Given the description of an element on the screen output the (x, y) to click on. 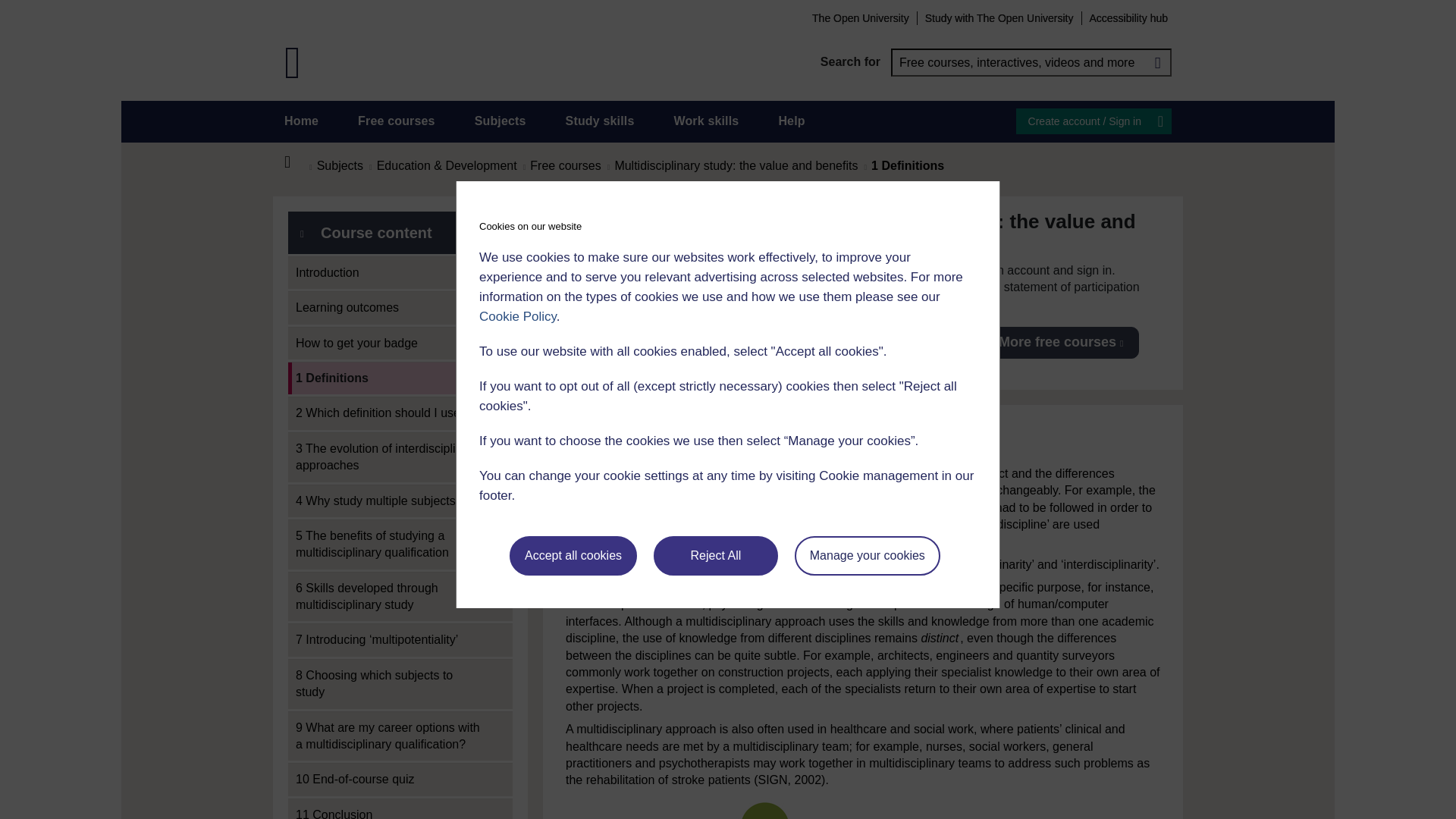
Subjects (499, 120)
Work skills (705, 120)
Home (295, 162)
Study skills (600, 120)
Free courses (396, 120)
Manage your cookies (867, 555)
Home (300, 120)
Accept all cookies (573, 555)
Accessibility hub (1129, 17)
Search (1157, 62)
Cookie Policy (517, 316)
Reject All (715, 555)
The Open University (860, 17)
Help (791, 120)
Study with The Open University (999, 17)
